Given the description of an element on the screen output the (x, y) to click on. 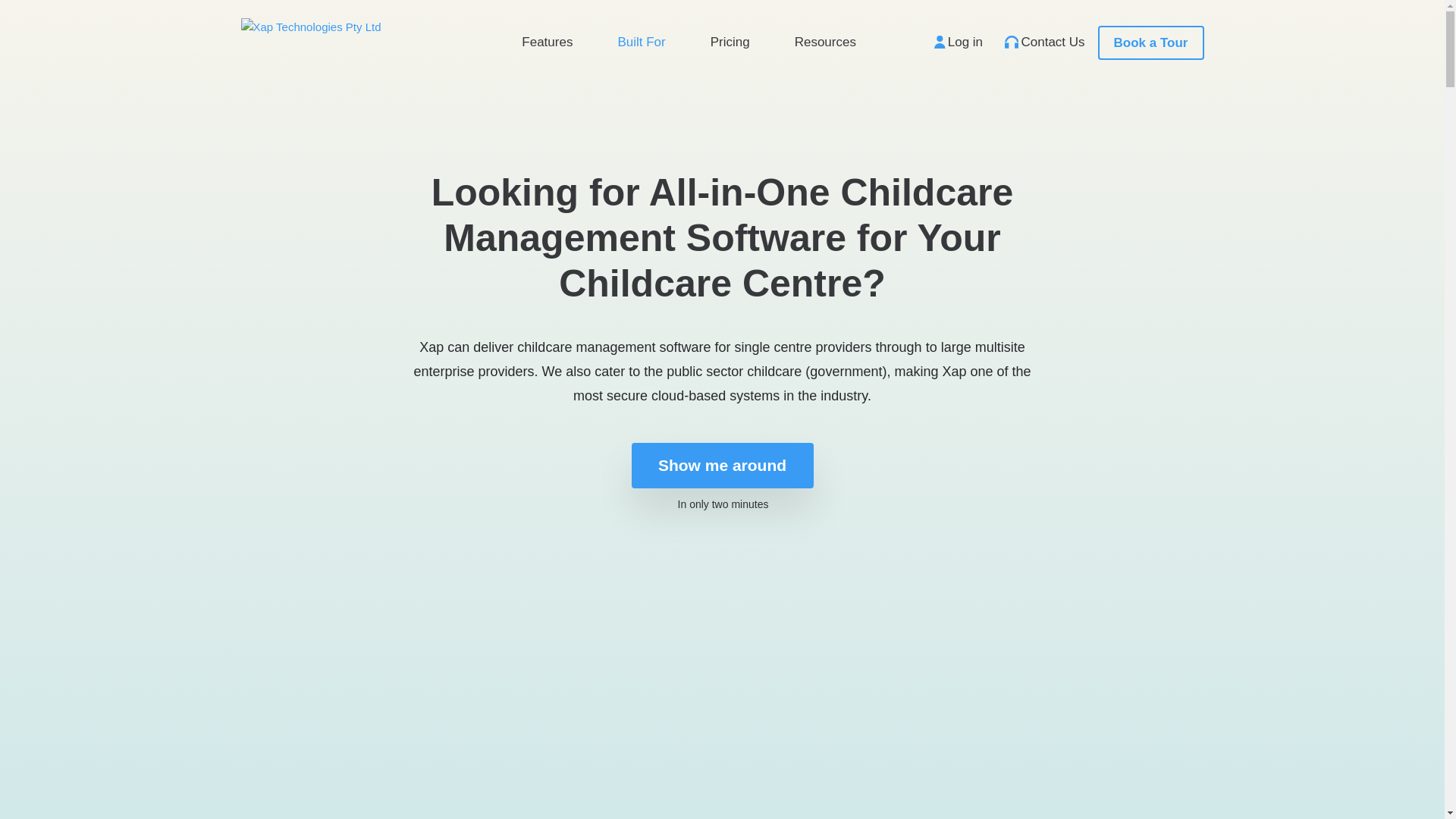
Show me around Element type: text (721, 465)
Resources Element type: text (825, 45)
Xap Technologies Pty Ltd Element type: hover (311, 26)
Log in Element type: text (958, 41)
Features Element type: text (546, 45)
Pricing Element type: text (730, 45)
Built For Element type: text (641, 45)
Book a Tour Element type: text (1151, 42)
Contact Us Element type: text (1044, 41)
